Given the description of an element on the screen output the (x, y) to click on. 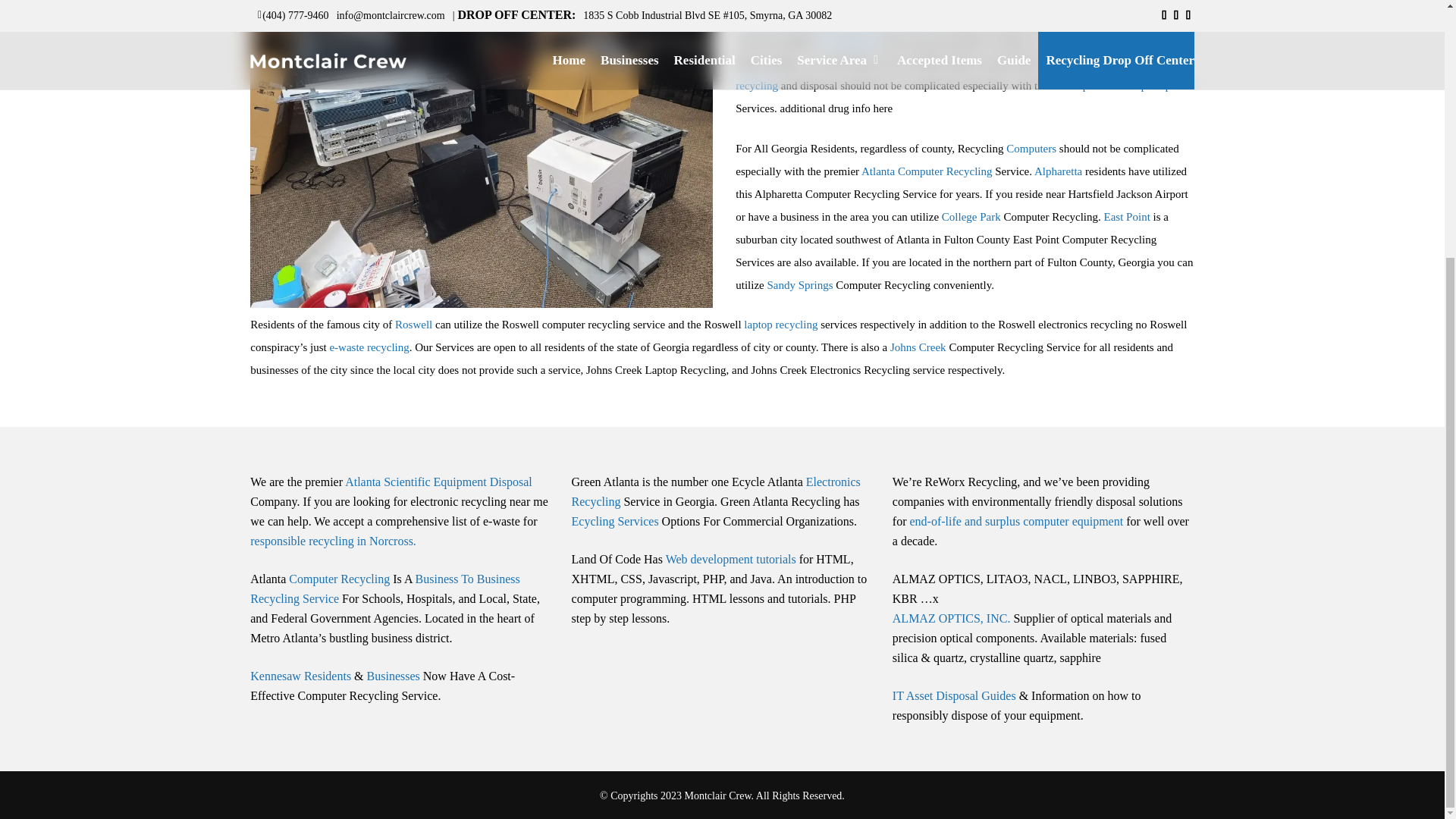
Computer Desktop Disposal (1124, 85)
IT Equipment (848, 39)
businesses (1091, 17)
Electronics Recycling (893, 17)
IT Equipment Disposal (939, 11)
Computer recycling (945, 73)
Computers (1031, 148)
Atlanta (878, 171)
